Given the description of an element on the screen output the (x, y) to click on. 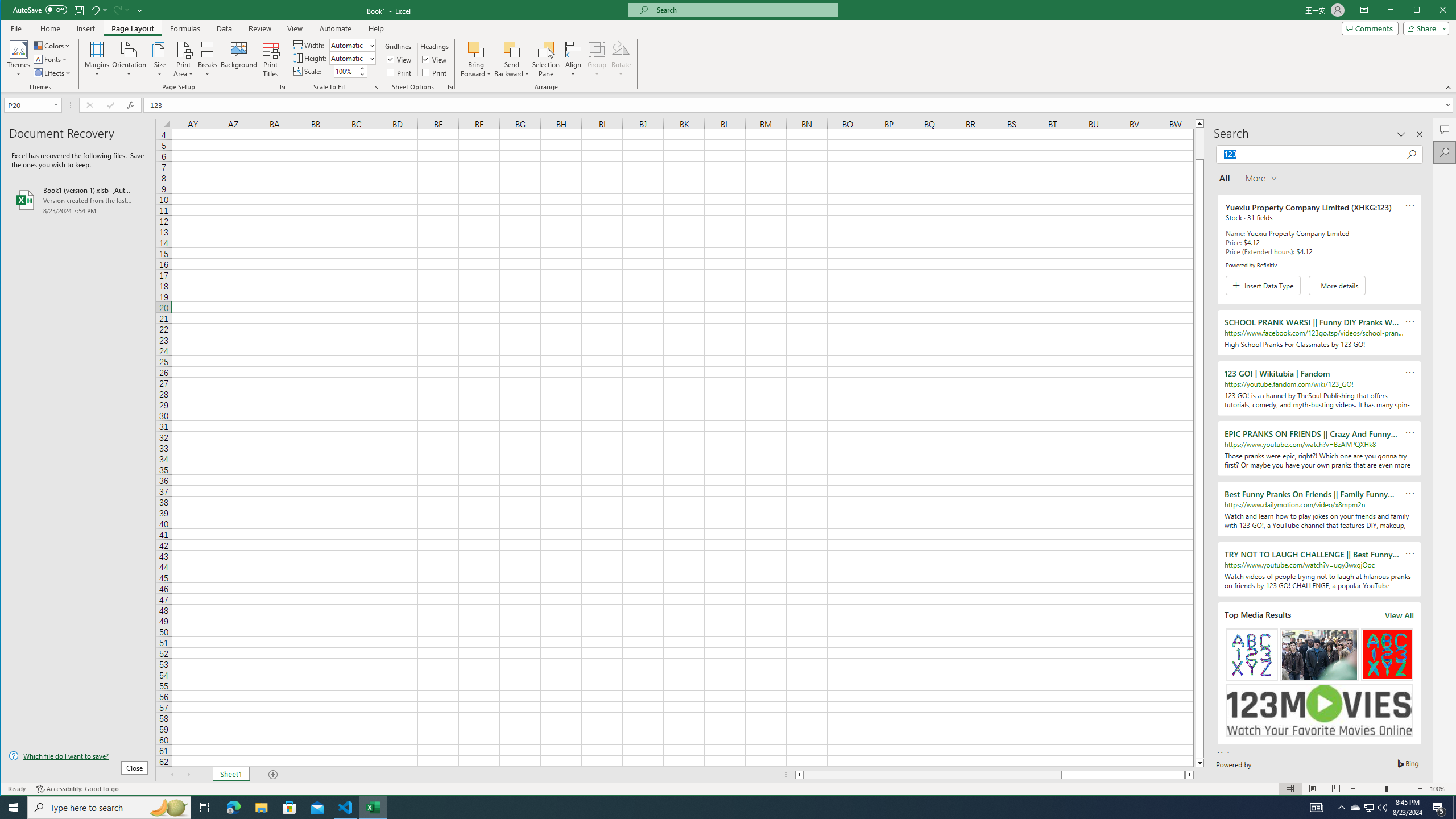
Bring Forward (476, 48)
Sheet1 (230, 774)
Help (376, 28)
Comments (1444, 128)
Accessibility Checker Accessibility: Good to go (77, 788)
Line up (1199, 122)
Name Box (27, 104)
Print Titles (270, 59)
Type here to search (108, 807)
Print Area (183, 59)
Save (79, 9)
System (11, 10)
Normal (1290, 788)
Maximize (1432, 11)
Width (352, 44)
